Given the description of an element on the screen output the (x, y) to click on. 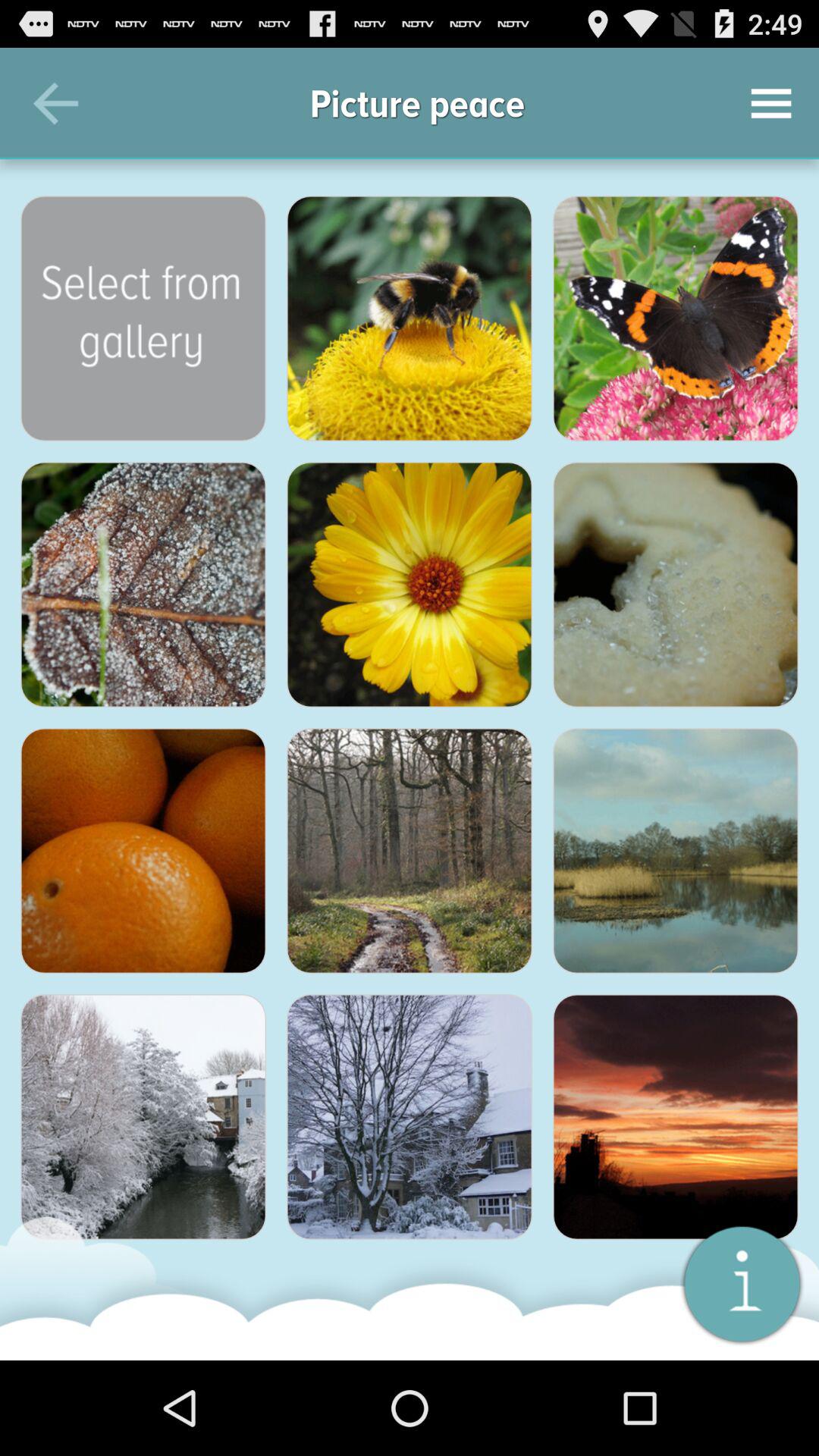
select a picture (143, 318)
